Given the description of an element on the screen output the (x, y) to click on. 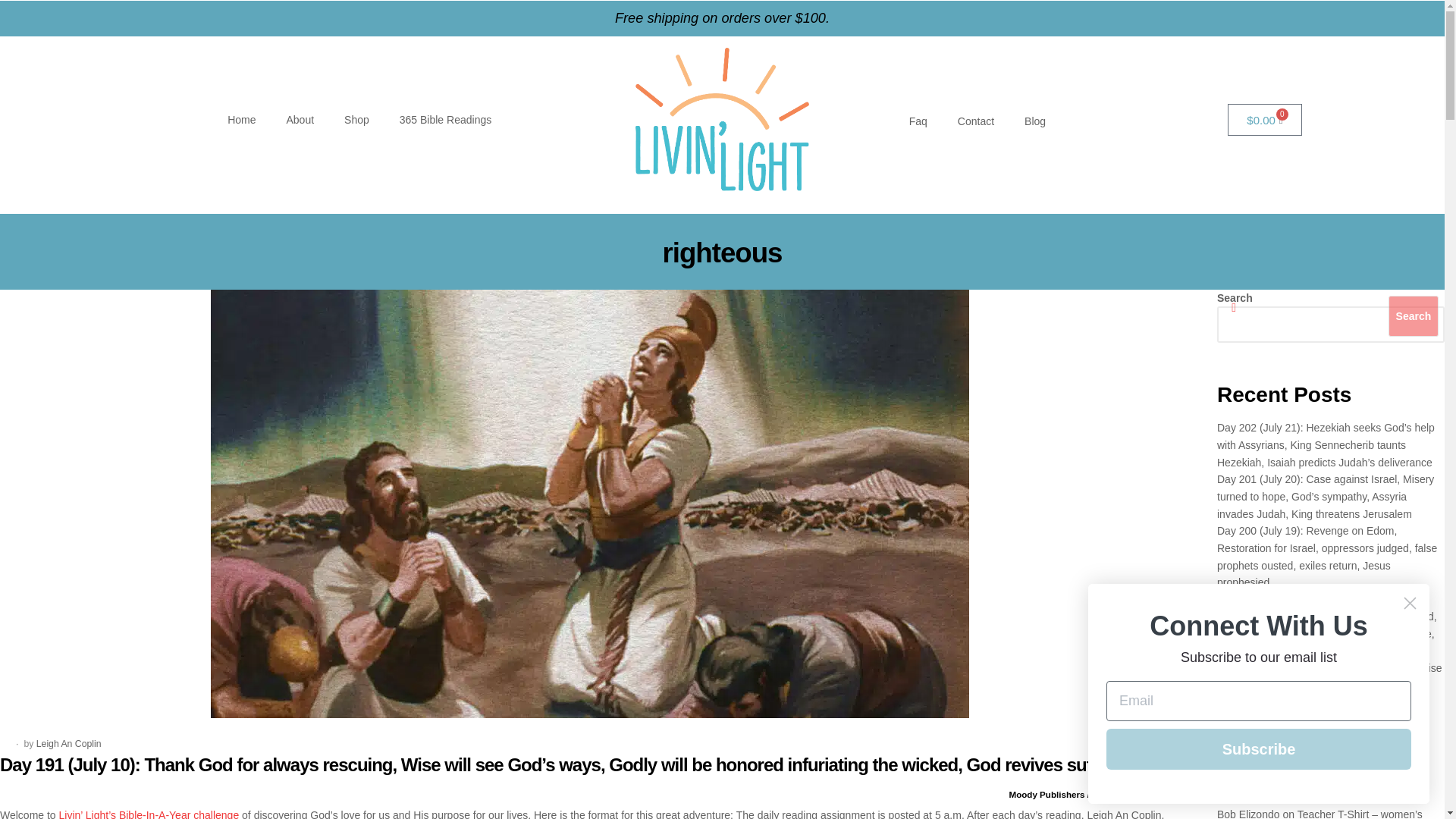
Blog (1035, 121)
Leigh An Coplin (68, 743)
About (299, 119)
Home (241, 119)
Faq (917, 121)
365 Bible Readings (445, 119)
Contact (975, 121)
Shop (356, 119)
